Given the description of an element on the screen output the (x, y) to click on. 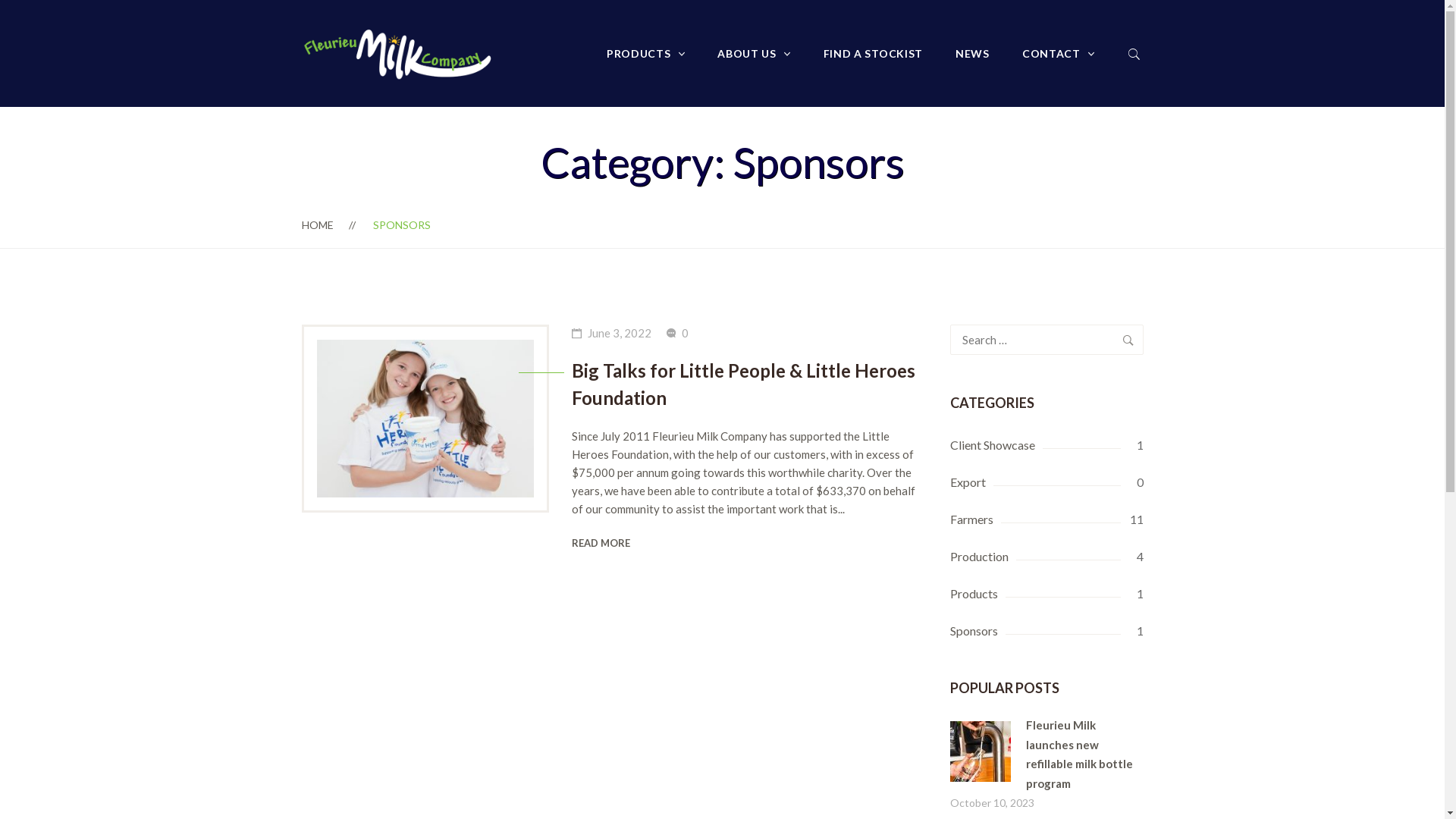
Fleurieu Milk launches new refillable milk bottle program Element type: hover (979, 729)
Production Element type: text (1045, 556)
Fleurieu Milk launches new refillable milk bottle program Element type: text (1078, 754)
PRODUCTS Element type: text (645, 53)
Farmers Element type: text (1045, 519)
FIND A STOCKIST Element type: text (873, 53)
NEWS Element type: text (972, 53)
HOME Element type: text (317, 224)
Fleurieu Milk Company Element type: hover (398, 53)
Client Showcase Element type: text (1045, 445)
READ MORE Element type: text (600, 542)
Sponsors Element type: text (1045, 630)
CONTACT Element type: text (1058, 53)
Search Element type: text (1128, 339)
Big Talks for Little People & Little Heroes Foundation Element type: text (749, 383)
Export Element type: text (1045, 482)
ABOUT US Element type: text (753, 53)
Products Element type: text (1045, 593)
